Given the description of an element on the screen output the (x, y) to click on. 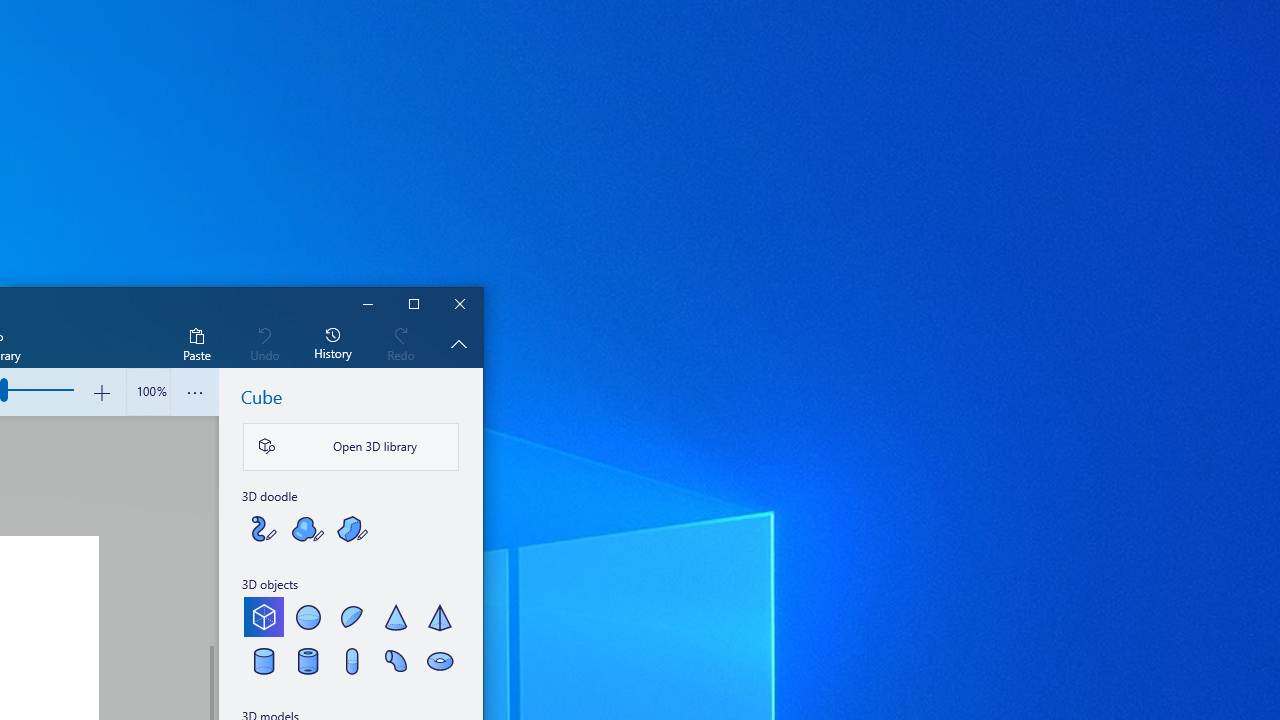
Hemisphere (351, 616)
Paste (196, 343)
Hide description (458, 343)
Pyramid (439, 616)
Doughnut (439, 660)
Sharp edge (351, 528)
Zoom slider (148, 391)
Tube brush (264, 528)
Open 3D library (351, 446)
Cylinder (264, 660)
Zoom in (101, 391)
View more options (194, 391)
